Given the description of an element on the screen output the (x, y) to click on. 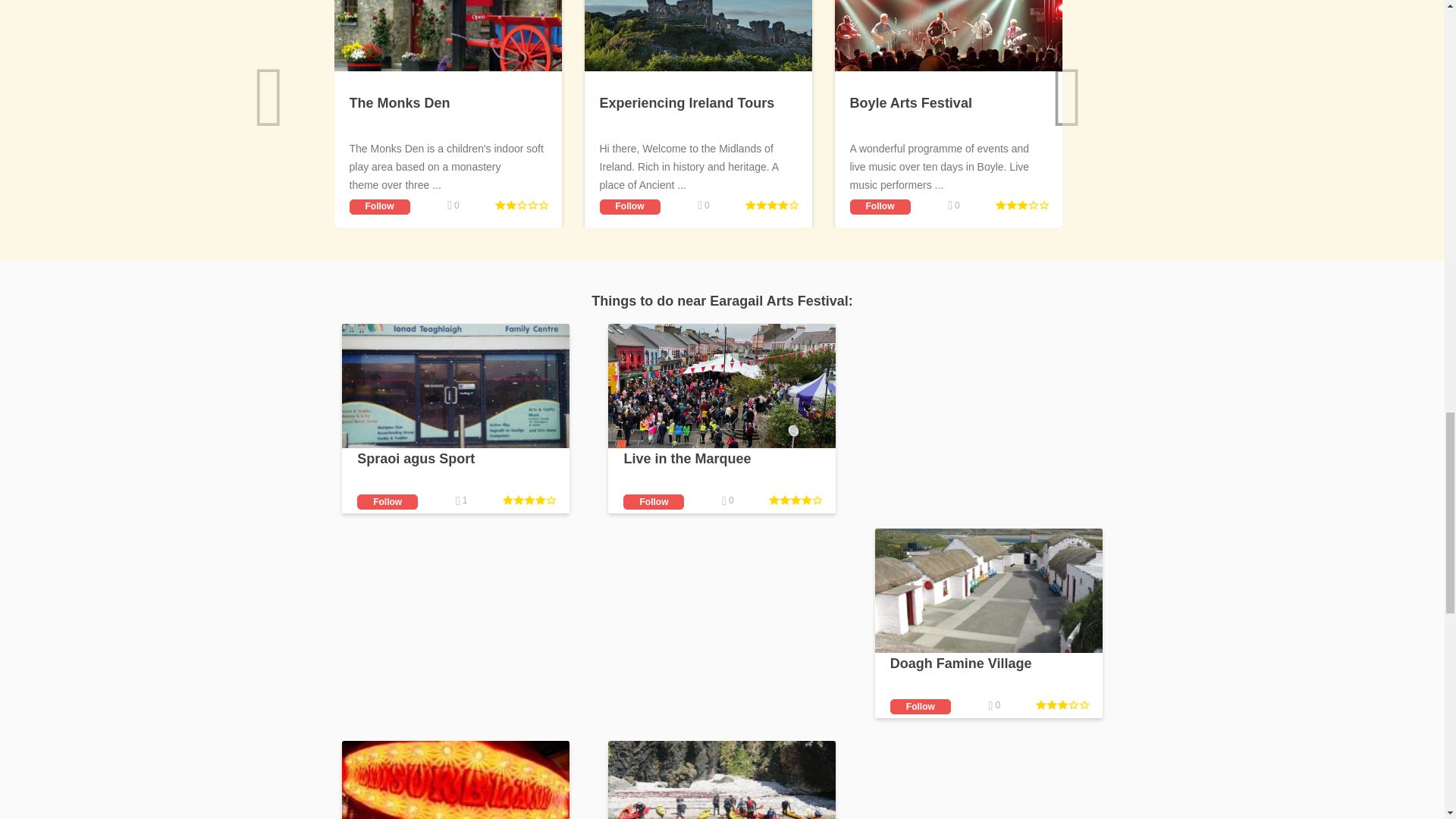
3rd party ad content (988, 418)
